Given the description of an element on the screen output the (x, y) to click on. 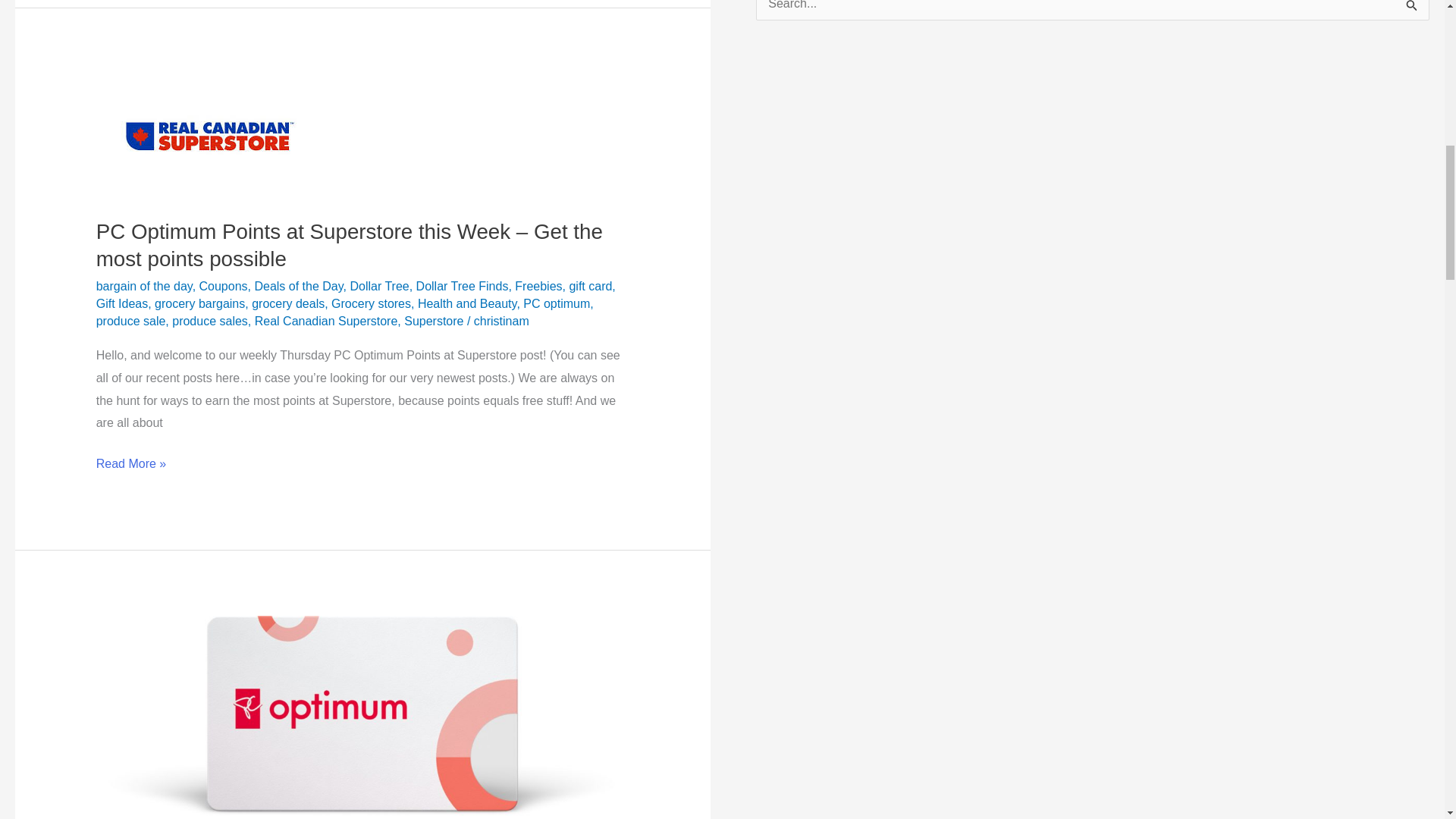
View all posts by christinam (501, 320)
Dollar Tree (379, 286)
bargain of the day (144, 286)
gift card (590, 286)
Dollar Tree Finds (462, 286)
Gift Ideas (122, 303)
Search (1411, 14)
Search (1411, 14)
Deals of the Day (297, 286)
Coupons (223, 286)
